Given the description of an element on the screen output the (x, y) to click on. 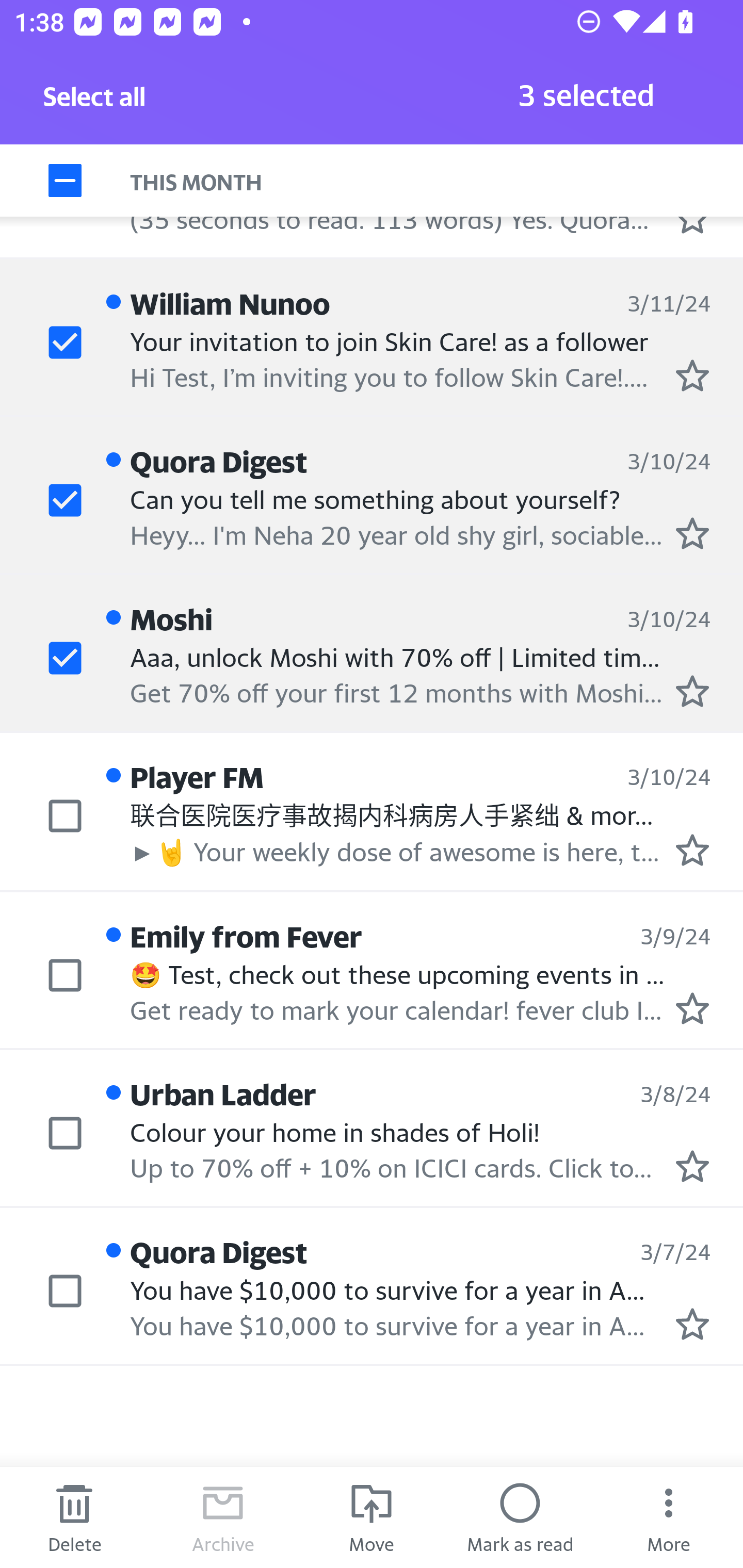
Select all (94, 101)
Mark as starred. (692, 375)
Mark as starred. (692, 533)
Mark as starred. (692, 690)
Mark as starred. (692, 850)
Mark as starred. (692, 1008)
Mark as starred. (692, 1165)
Mark as starred. (692, 1324)
Delete (74, 1517)
Archive (222, 1517)
Move (371, 1517)
Mark as read (519, 1517)
More (668, 1517)
